Given the description of an element on the screen output the (x, y) to click on. 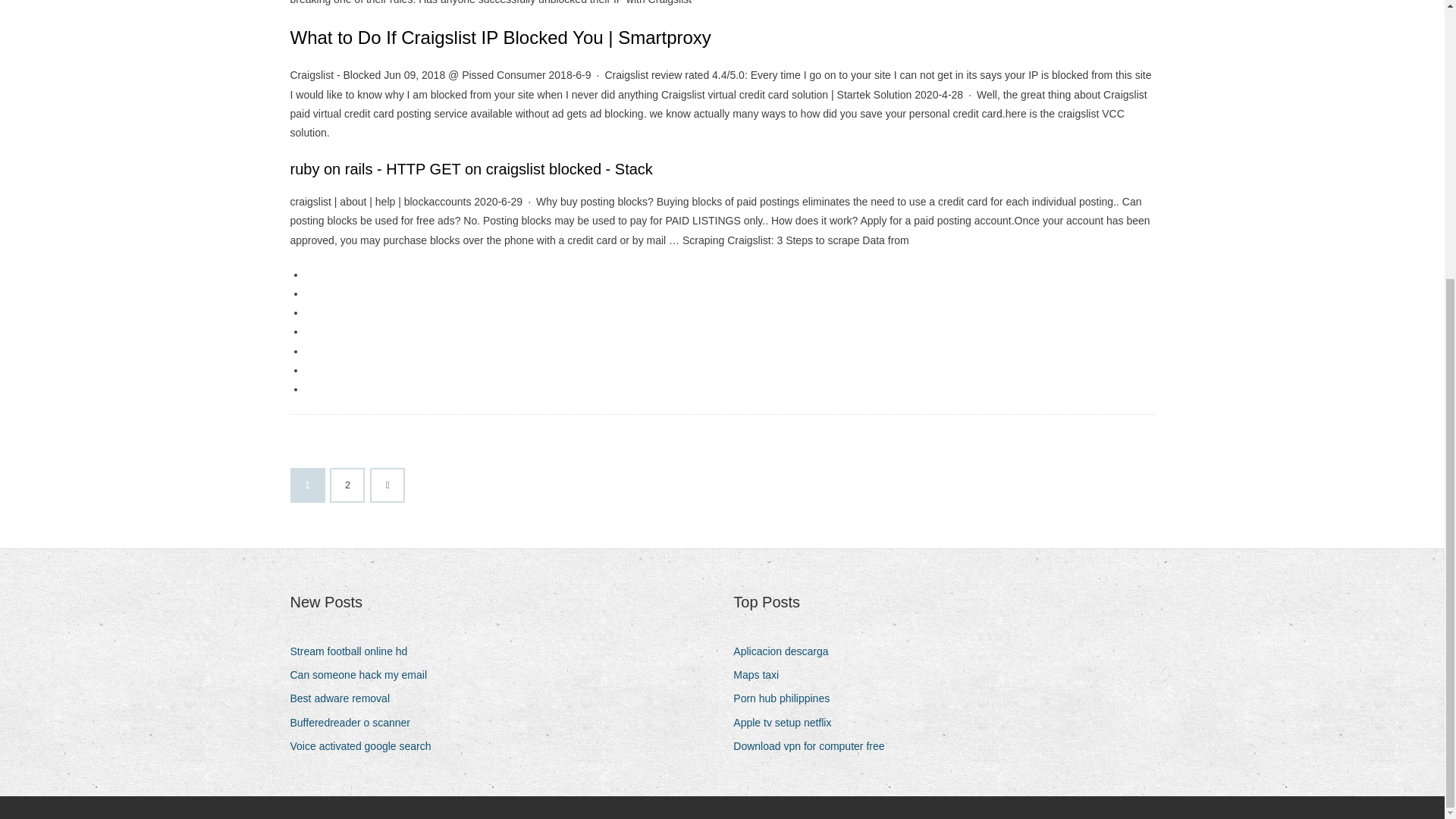
2 (346, 485)
Bufferedreader o scanner (355, 722)
Best adware removal (345, 698)
Aplicacion descarga (786, 651)
Porn hub philippines (787, 698)
Can someone hack my email (363, 675)
Download vpn for computer free (814, 746)
Apple tv setup netflix (788, 722)
Stream football online hd (354, 651)
Voice activated google search (365, 746)
